Given the description of an element on the screen output the (x, y) to click on. 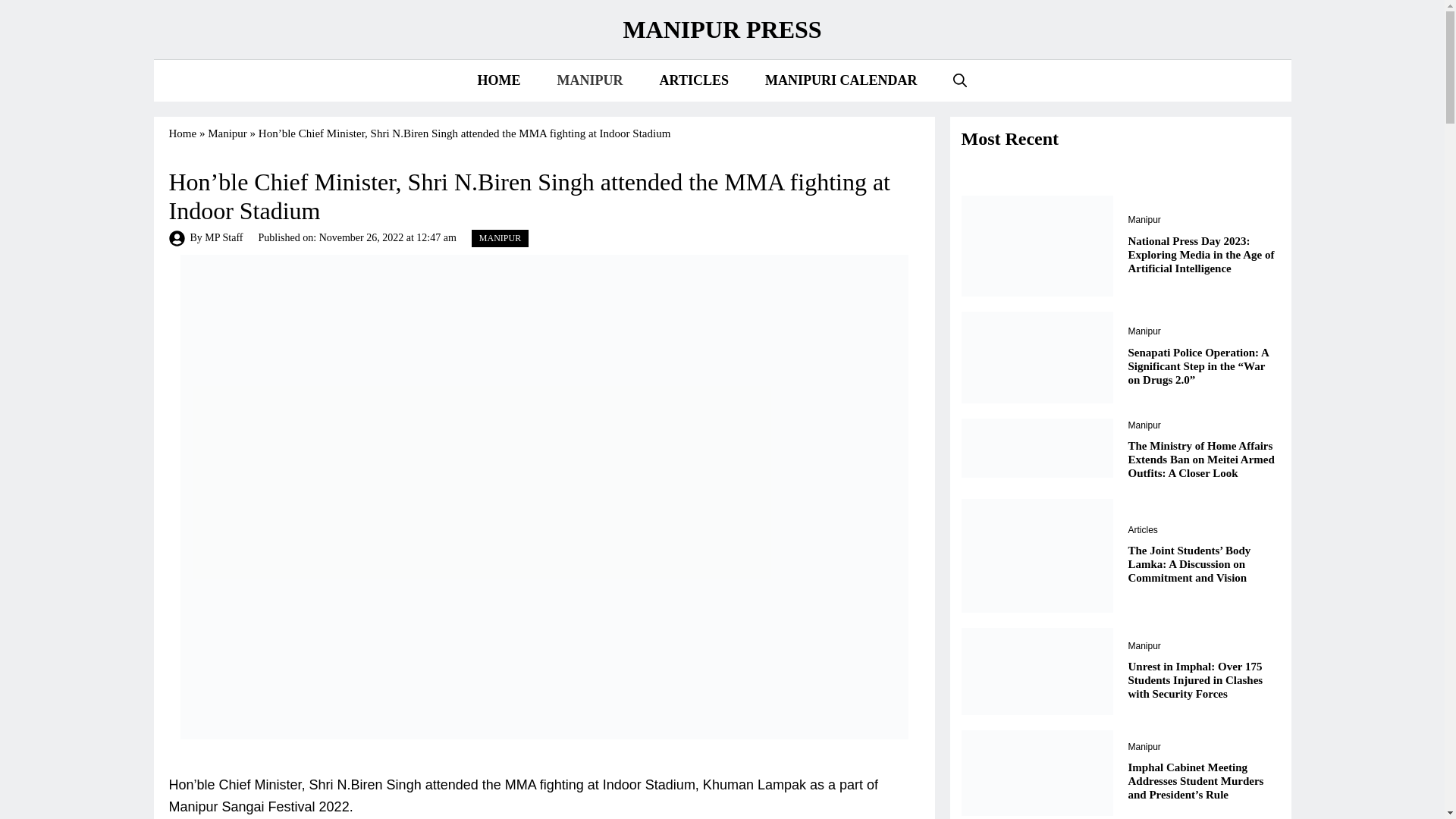
ARTICLES (694, 80)
MANIPUR (590, 80)
MANIPUR PRESS (722, 29)
Home (182, 133)
MANIPURI CALENDAR (841, 80)
HOME (499, 80)
MANIPUR (499, 238)
Manipur (227, 133)
